Given the description of an element on the screen output the (x, y) to click on. 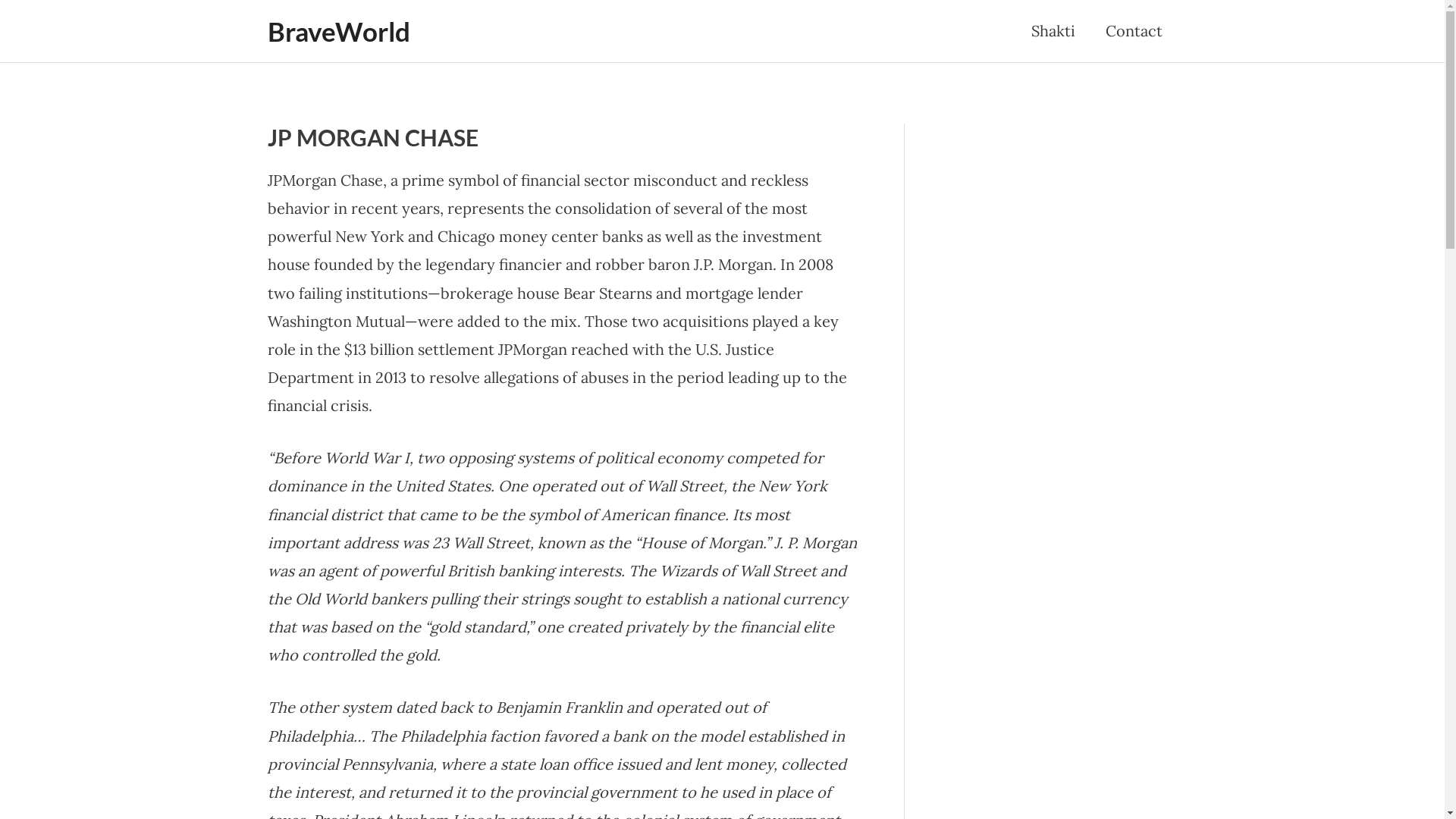
Shakti Element type: text (1053, 31)
BraveWorld Element type: text (337, 31)
Contact Element type: text (1133, 31)
